Given the description of an element on the screen output the (x, y) to click on. 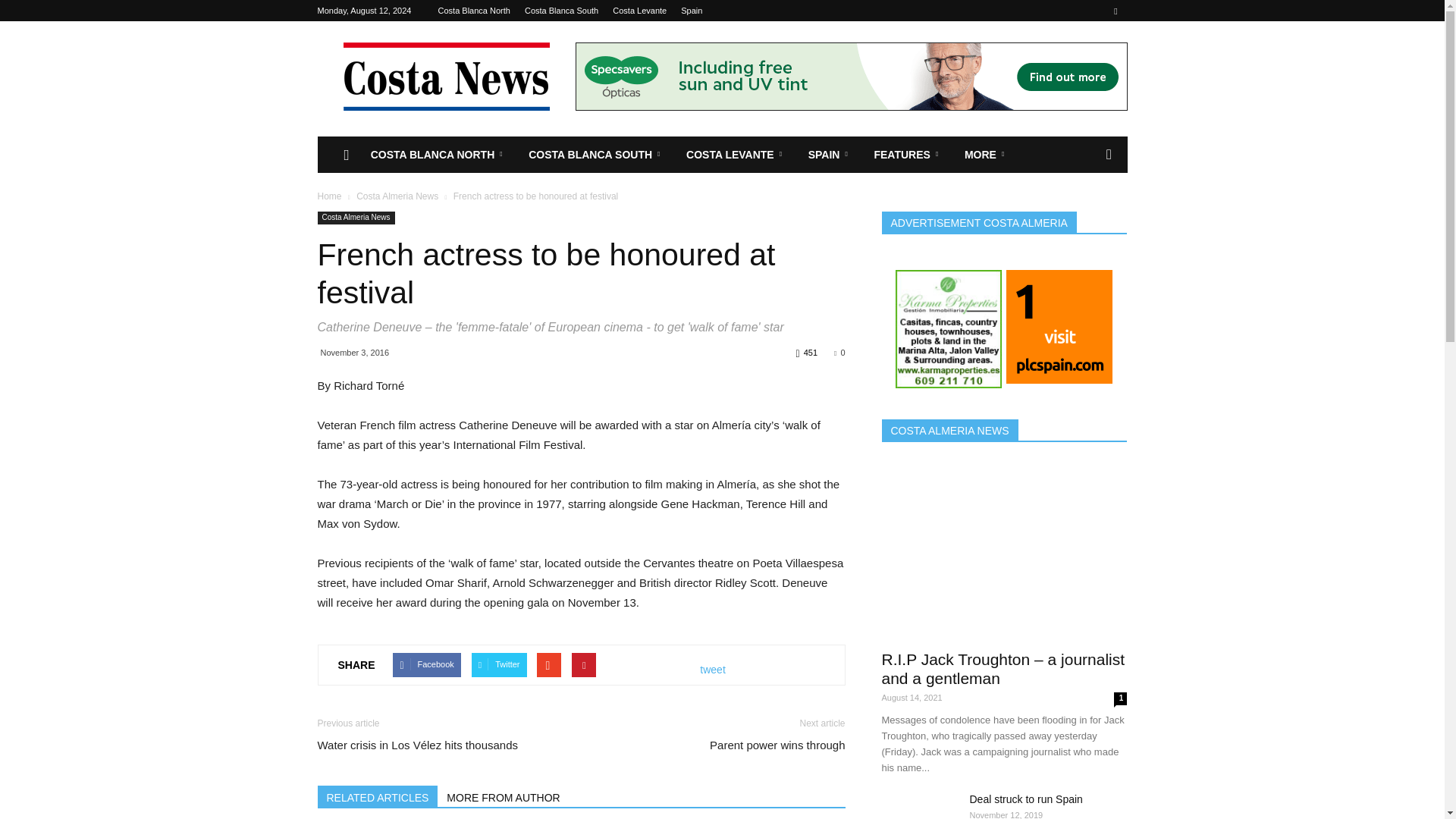
Costa News (445, 76)
Costa Levante (639, 10)
Costa Blanca South (561, 10)
Costa Blanca North (474, 10)
Facebook (1114, 10)
Spain (691, 10)
